Given the description of an element on the screen output the (x, y) to click on. 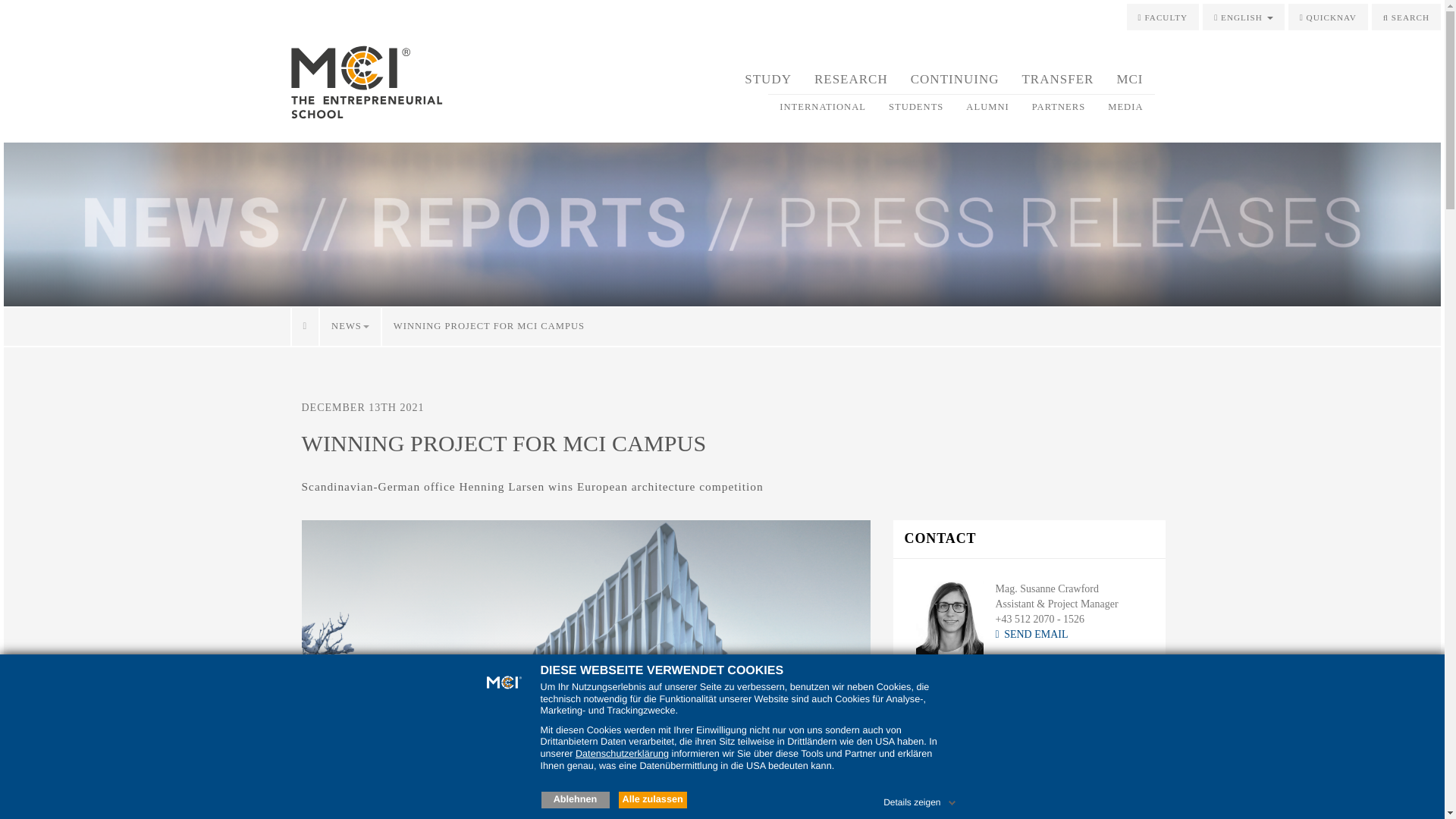
Alle zulassen (652, 799)
Details zeigen (920, 799)
Ablehnen (575, 799)
